Given the description of an element on the screen output the (x, y) to click on. 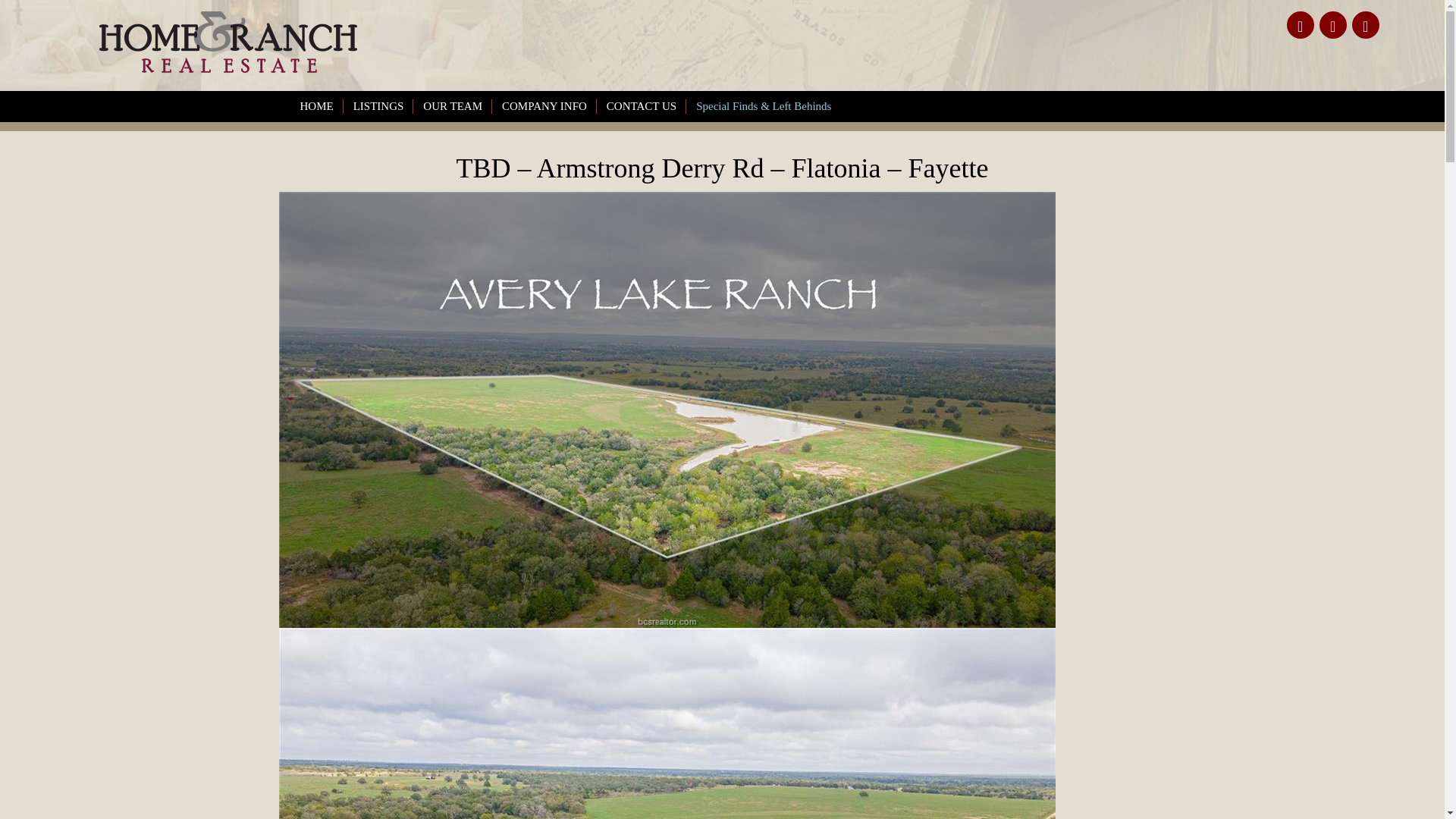
COMPANY INFO (544, 106)
CONTACT US (641, 106)
OUR TEAM (451, 106)
HOME (316, 106)
LISTINGS (379, 106)
